Given the description of an element on the screen output the (x, y) to click on. 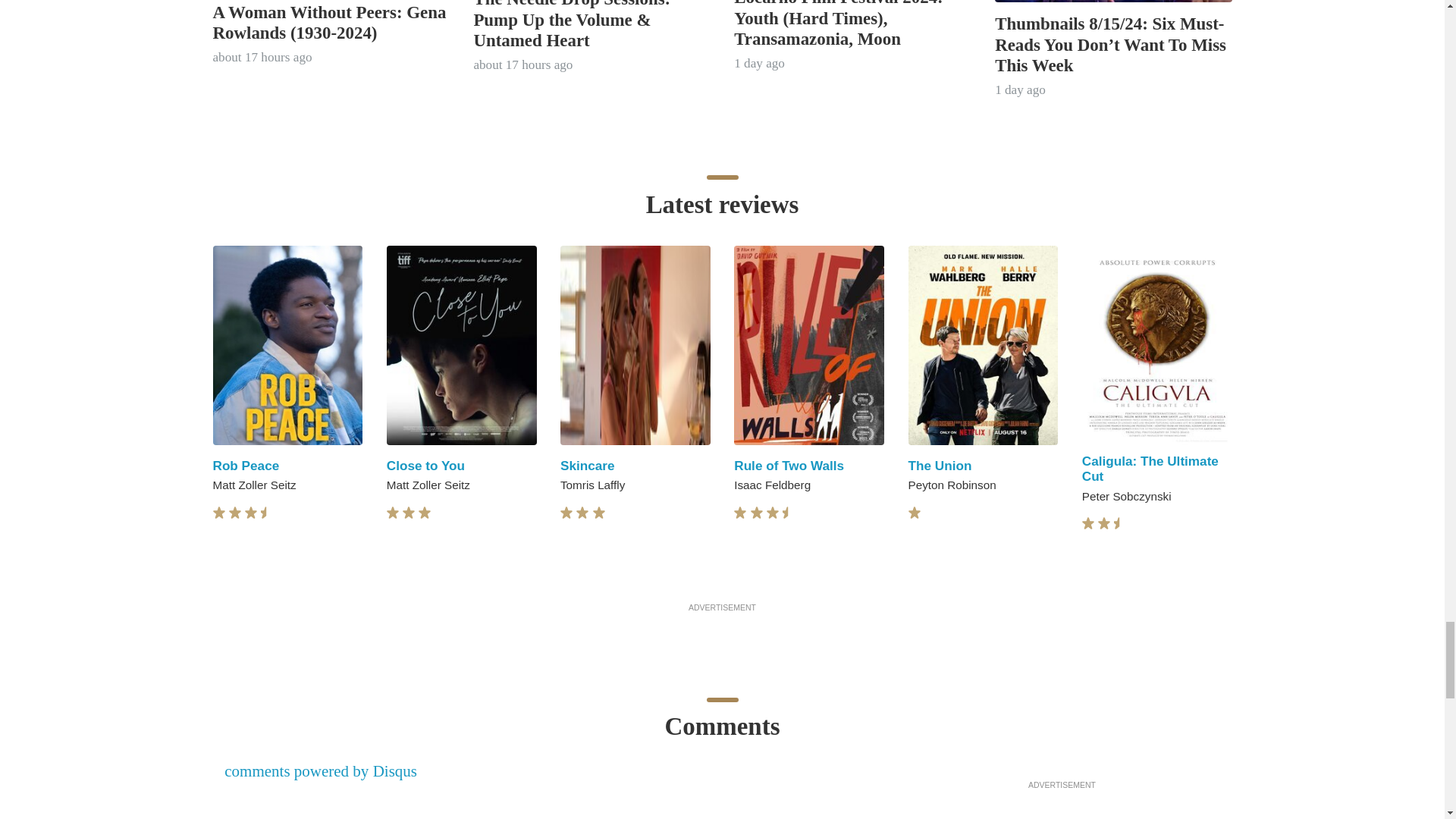
star-full (218, 512)
star-full (566, 512)
star-full (234, 512)
star-full (582, 512)
star-full (408, 512)
star-half (266, 512)
star-full (392, 512)
star-full (250, 512)
star-full (424, 512)
Rob Peace (245, 465)
